Given the description of an element on the screen output the (x, y) to click on. 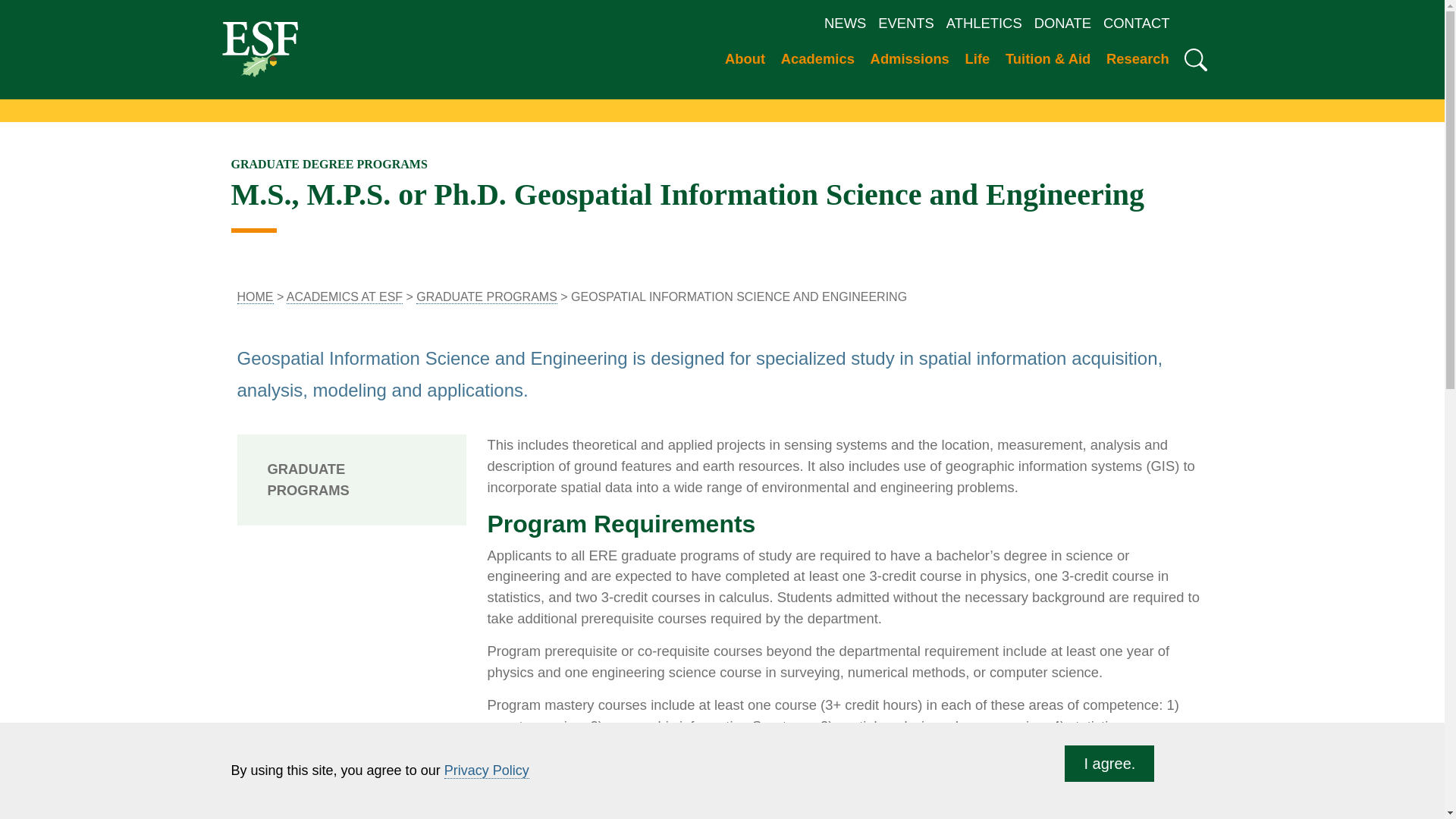
ATHLETICS (983, 23)
ESF (259, 48)
EVENTS (906, 23)
Admissions (911, 61)
CONTACT (1136, 23)
DONATE (1062, 23)
NEWS (845, 23)
About (746, 61)
Search (1194, 59)
Academics (819, 61)
